Given the description of an element on the screen output the (x, y) to click on. 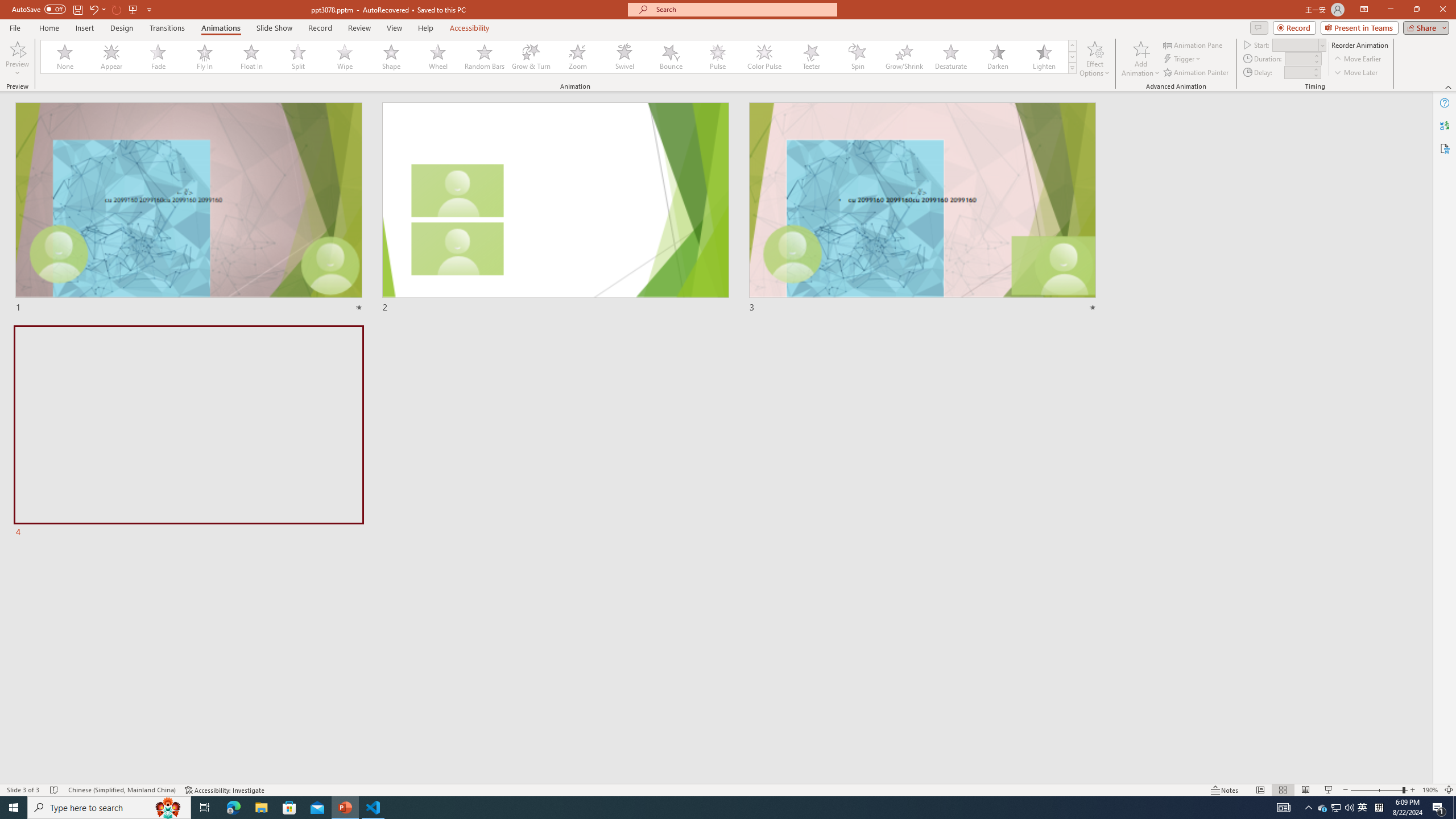
Color Pulse (764, 56)
More (1315, 69)
Teeter (810, 56)
Microsoft search (742, 9)
Shape (391, 56)
Effect Options (1094, 58)
